Given the description of an element on the screen output the (x, y) to click on. 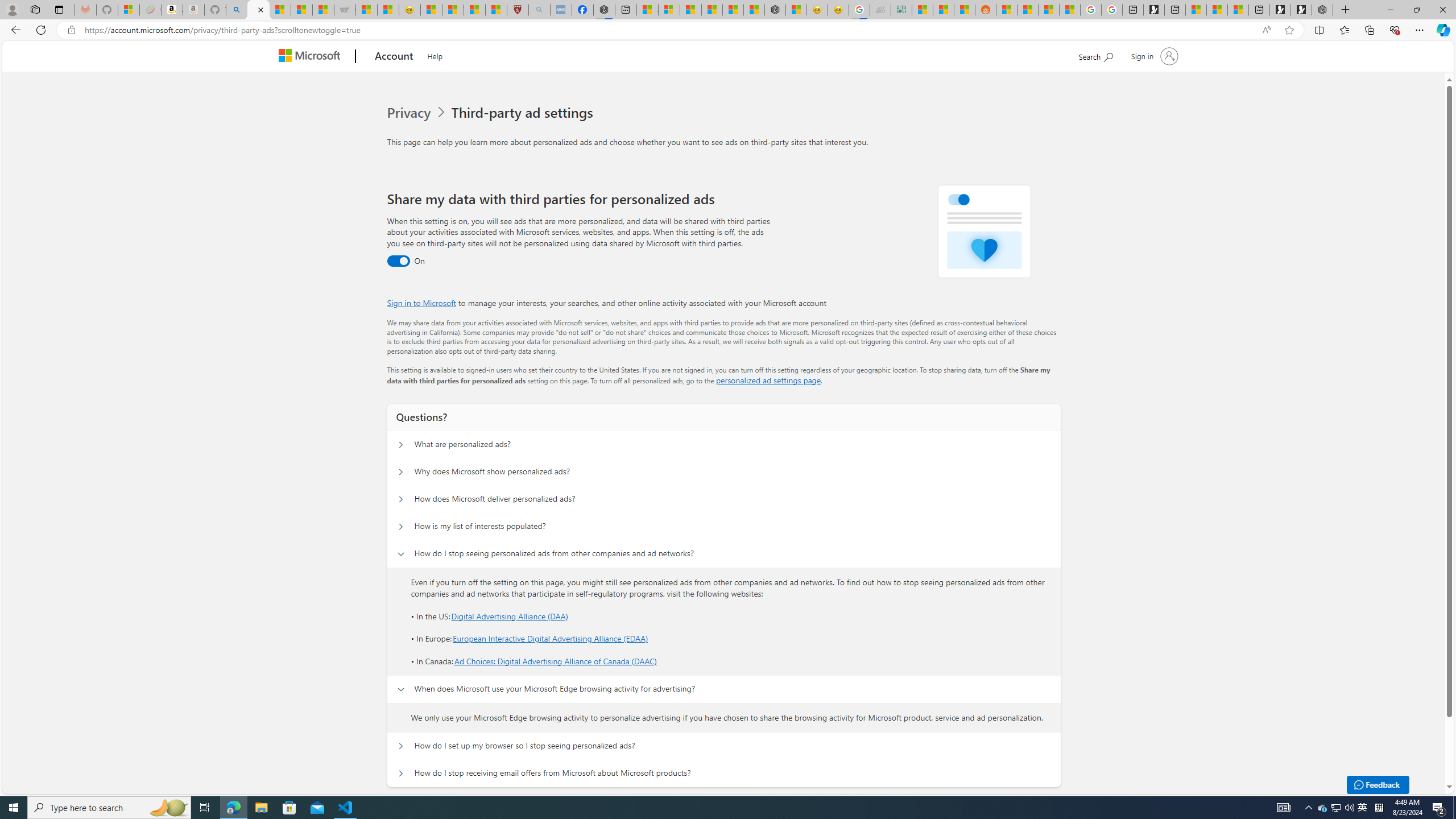
Questions? Why does Microsoft show personalized ads? (401, 472)
12 Popular Science Lies that Must be Corrected (496, 9)
